Given the description of an element on the screen output the (x, y) to click on. 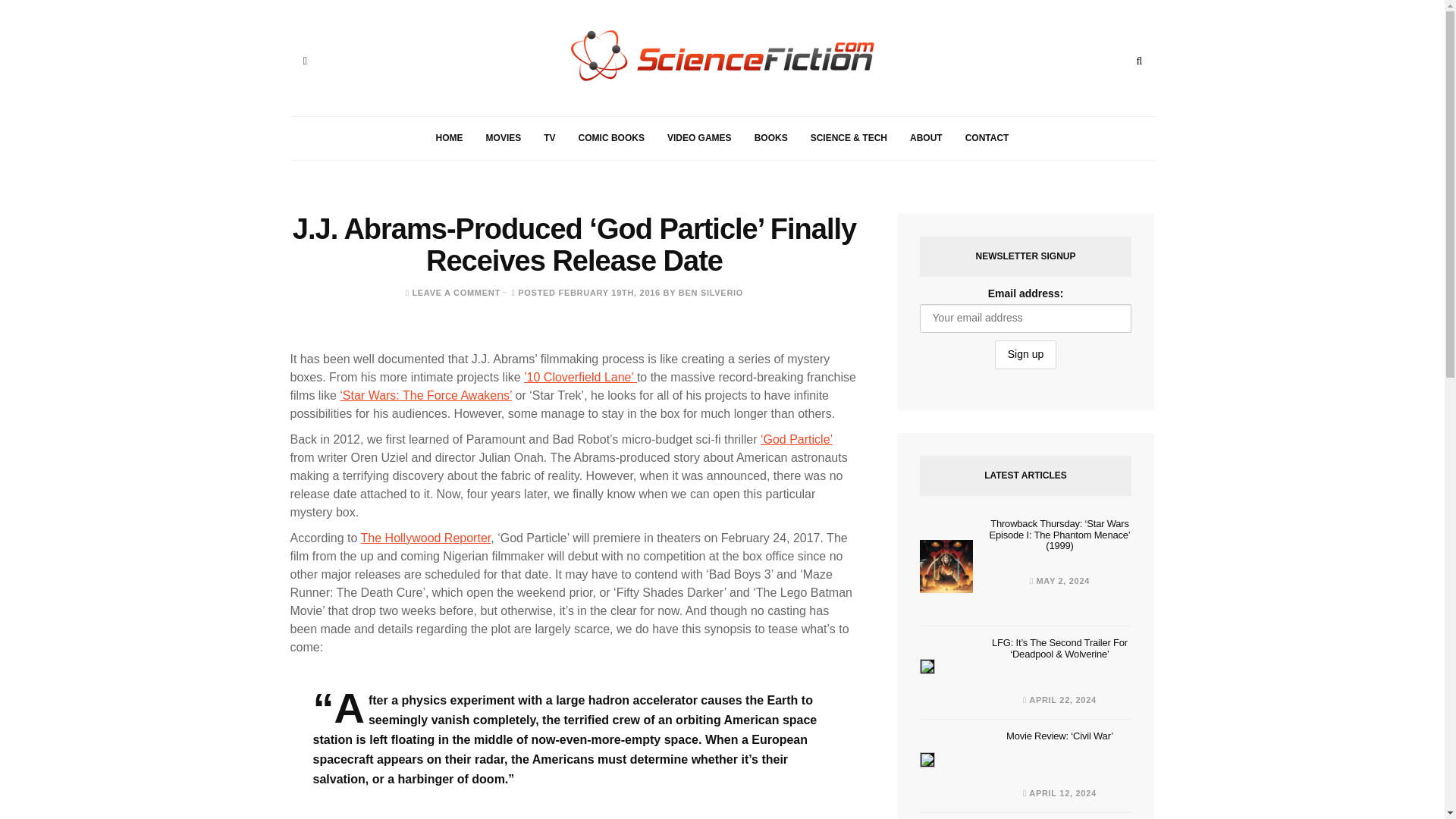
LEAVE A COMMENT (455, 292)
MOVIES (503, 138)
COMIC BOOKS (611, 138)
VIDEO GAMES (699, 138)
ABOUT (925, 138)
CONTACT (986, 138)
HOME (449, 138)
Sign up (1025, 354)
BOOKS (770, 138)
BEN SILVERIO (710, 292)
